Given the description of an element on the screen output the (x, y) to click on. 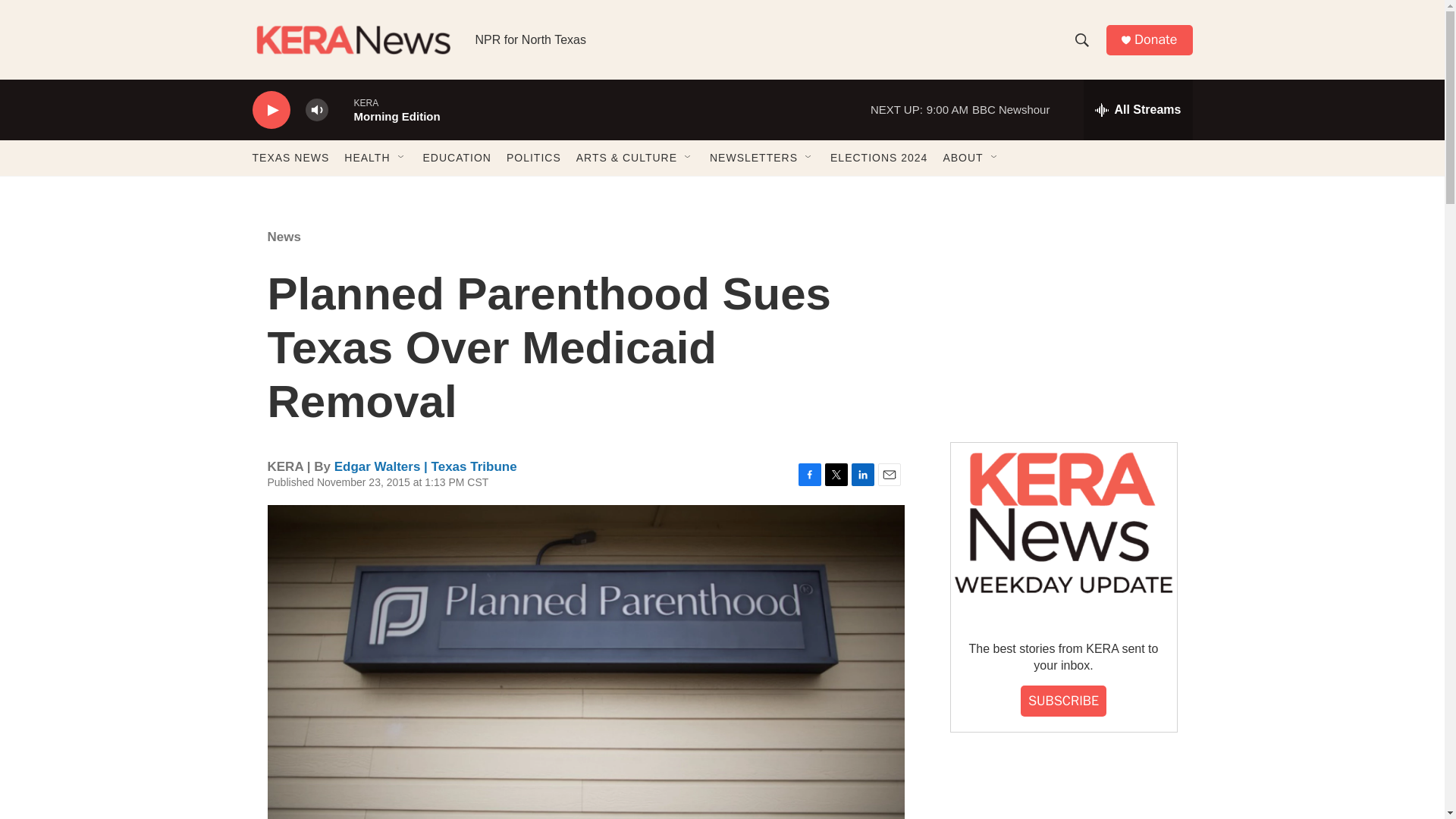
Show Search (1081, 39)
3rd party ad content (1062, 790)
3rd party ad content (1062, 316)
